Given the description of an element on the screen output the (x, y) to click on. 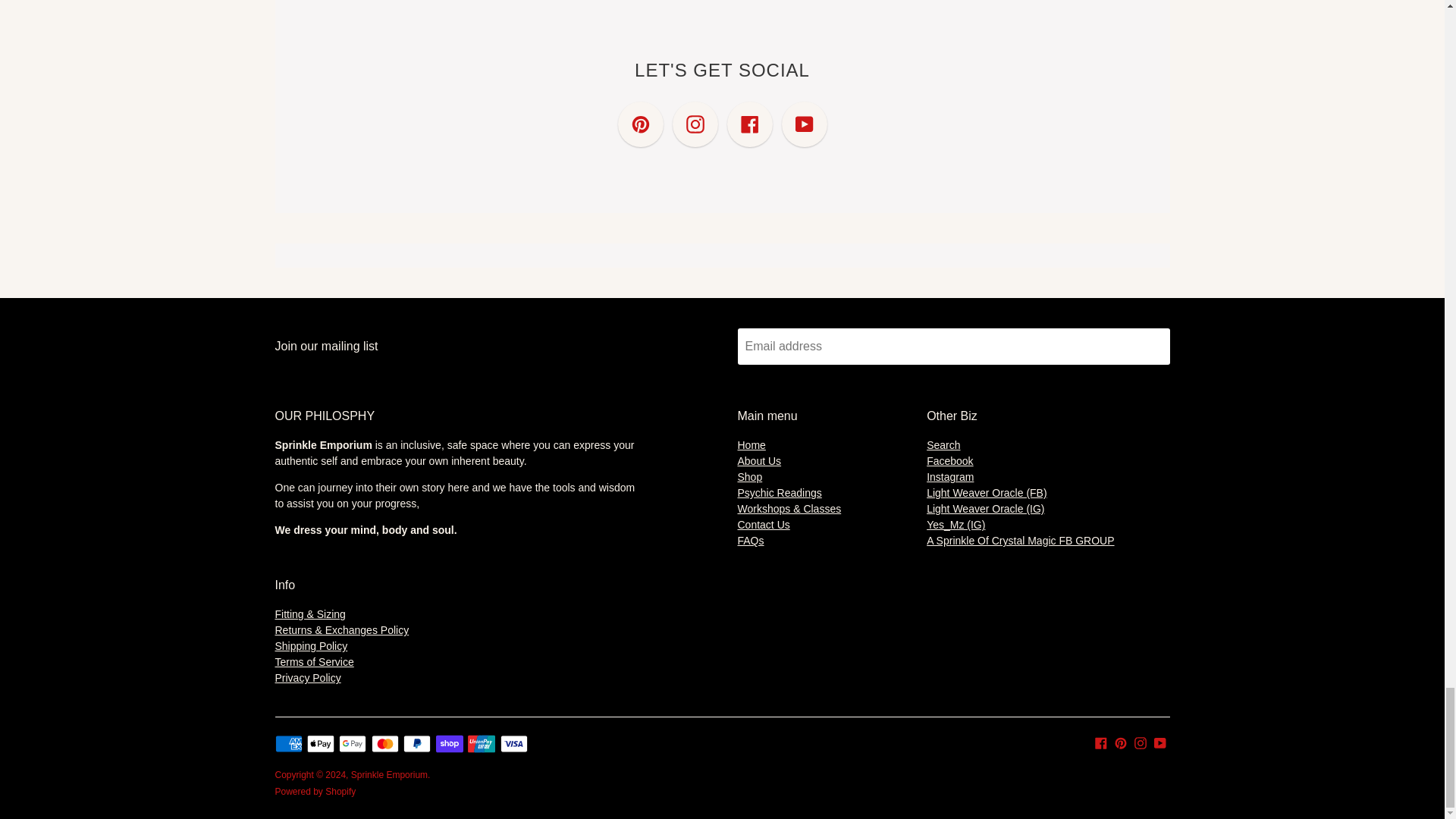
Apple Pay (320, 743)
Sprinkle Emporium on Pinterest (1120, 741)
Sprinkle Emporium on YouTube (1160, 741)
Sprinkle Emporium on Facebook (1100, 741)
Union Pay (481, 743)
American Express (288, 743)
PayPal (416, 743)
Mastercard (384, 743)
Sprinkle Emporium on Instagram (1140, 741)
Google Pay (352, 743)
